Given the description of an element on the screen output the (x, y) to click on. 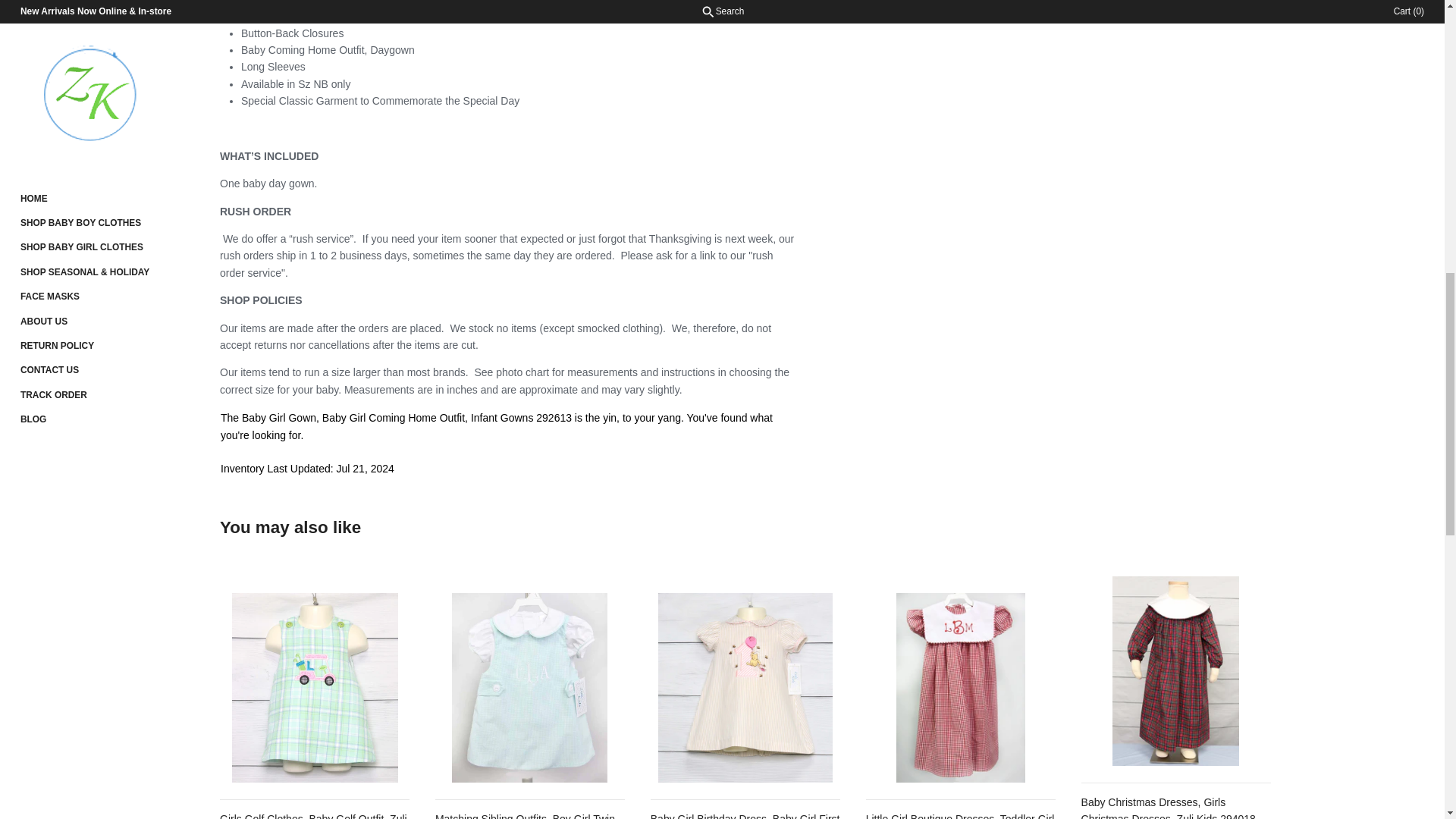
Girls Golf Clothes, Baby Golf Outfit, Zuli Kids 291438 (314, 687)
